Given the description of an element on the screen output the (x, y) to click on. 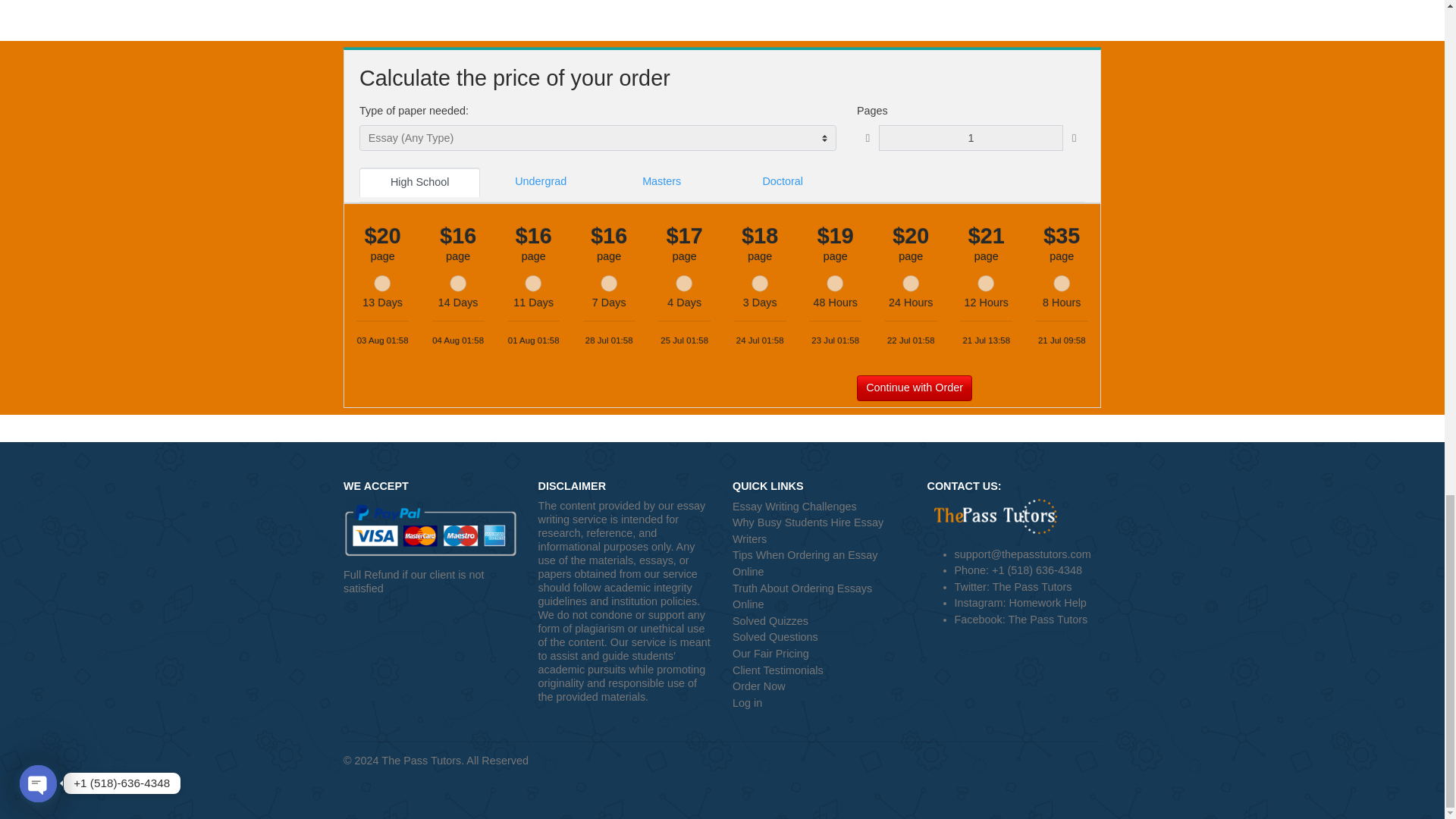
17 (760, 456)
Masters (735, 343)
16 (508, 456)
18 (843, 456)
19 (927, 456)
Doctoral (869, 343)
High School (466, 343)
Undergrad (601, 343)
Tips When Ordering an Essay Online (910, 768)
16 (675, 456)
Essay Writing Challenges (910, 704)
Truth About Ordering Essays Online (910, 802)
Continue with Order (1016, 572)
1 (1078, 294)
Homework Help (1164, 811)
